Given the description of an element on the screen output the (x, y) to click on. 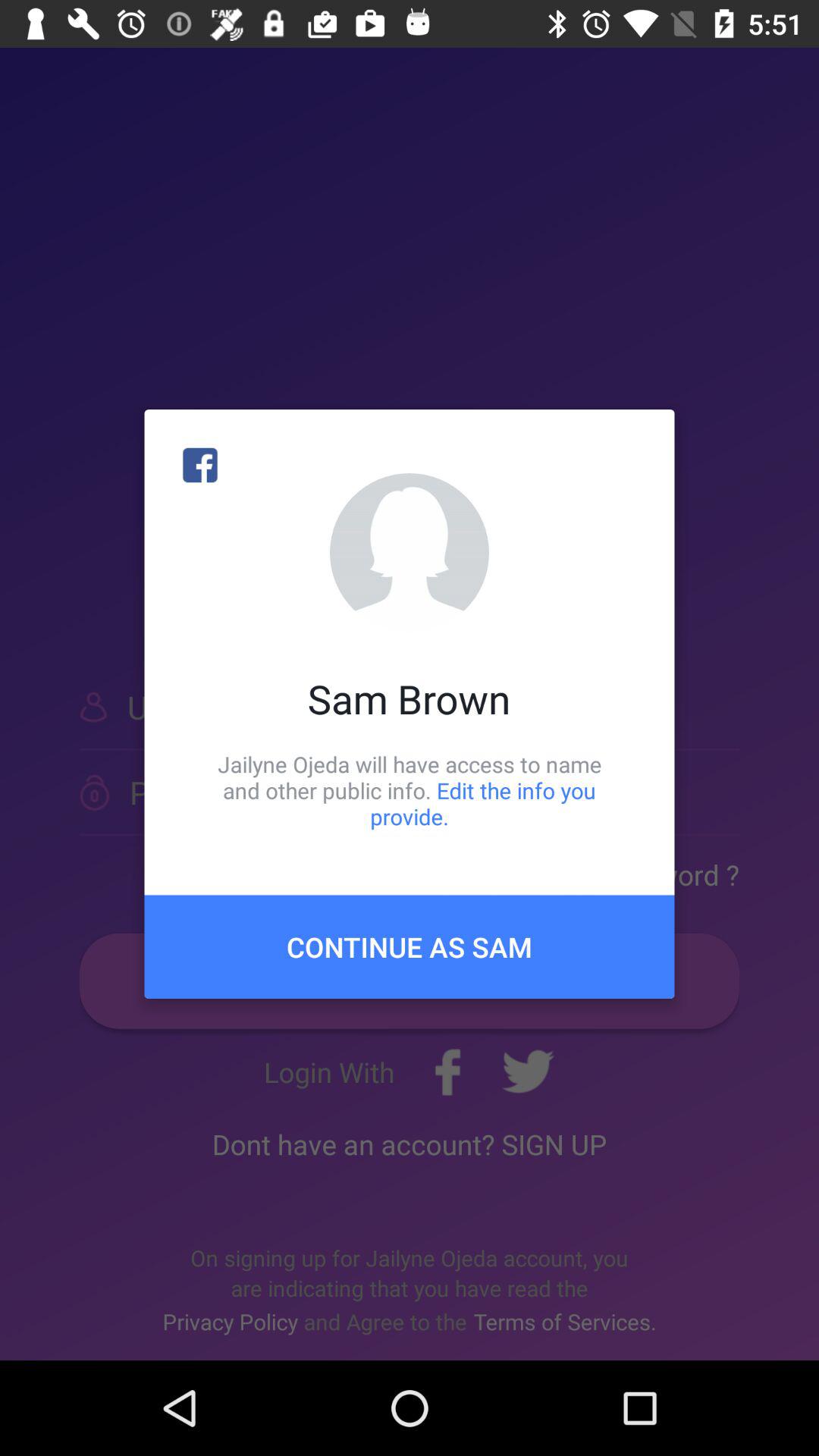
choose the icon above the continue as sam (409, 790)
